Given the description of an element on the screen output the (x, y) to click on. 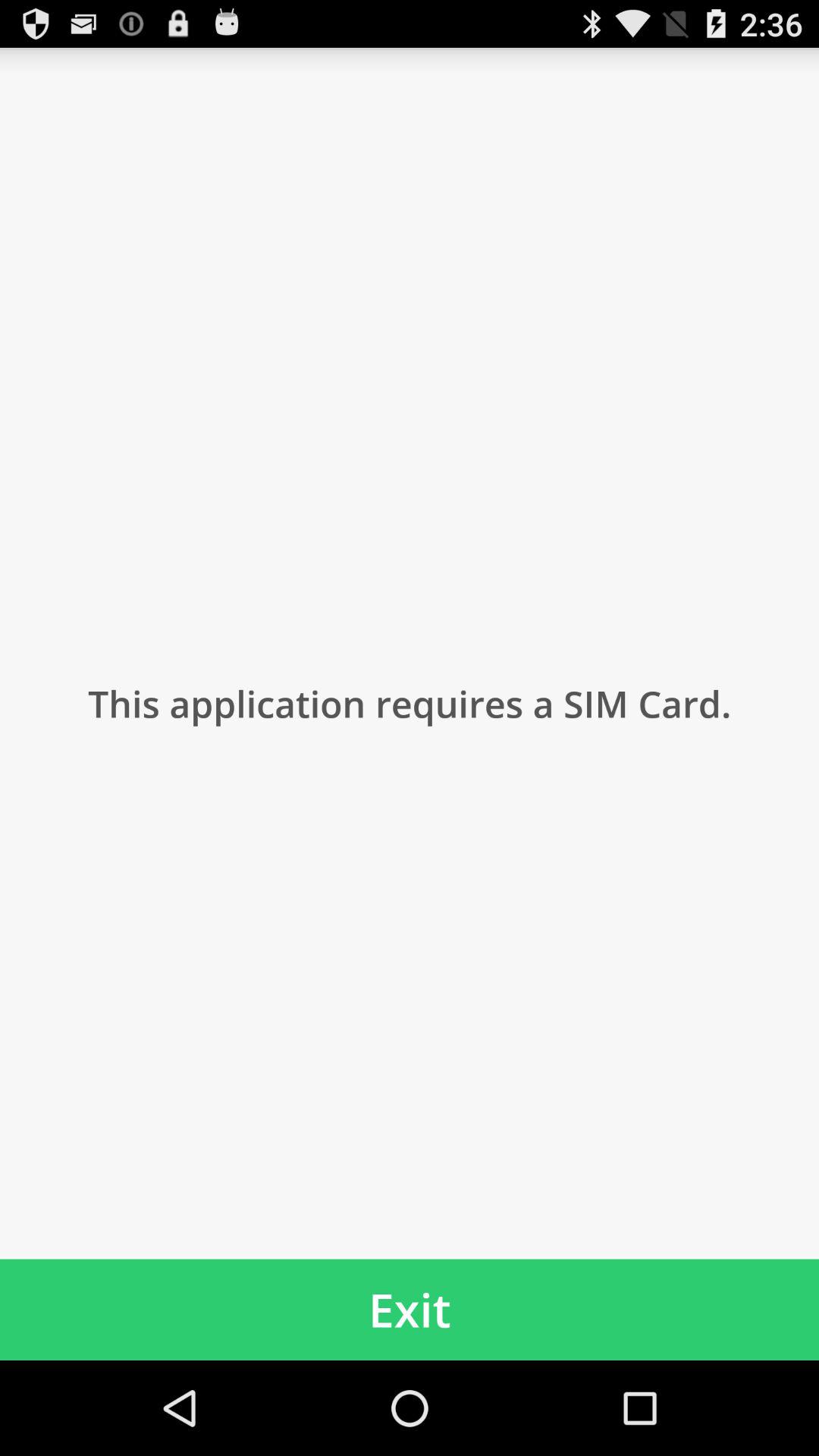
launch the exit app (409, 1309)
